Given the description of an element on the screen output the (x, y) to click on. 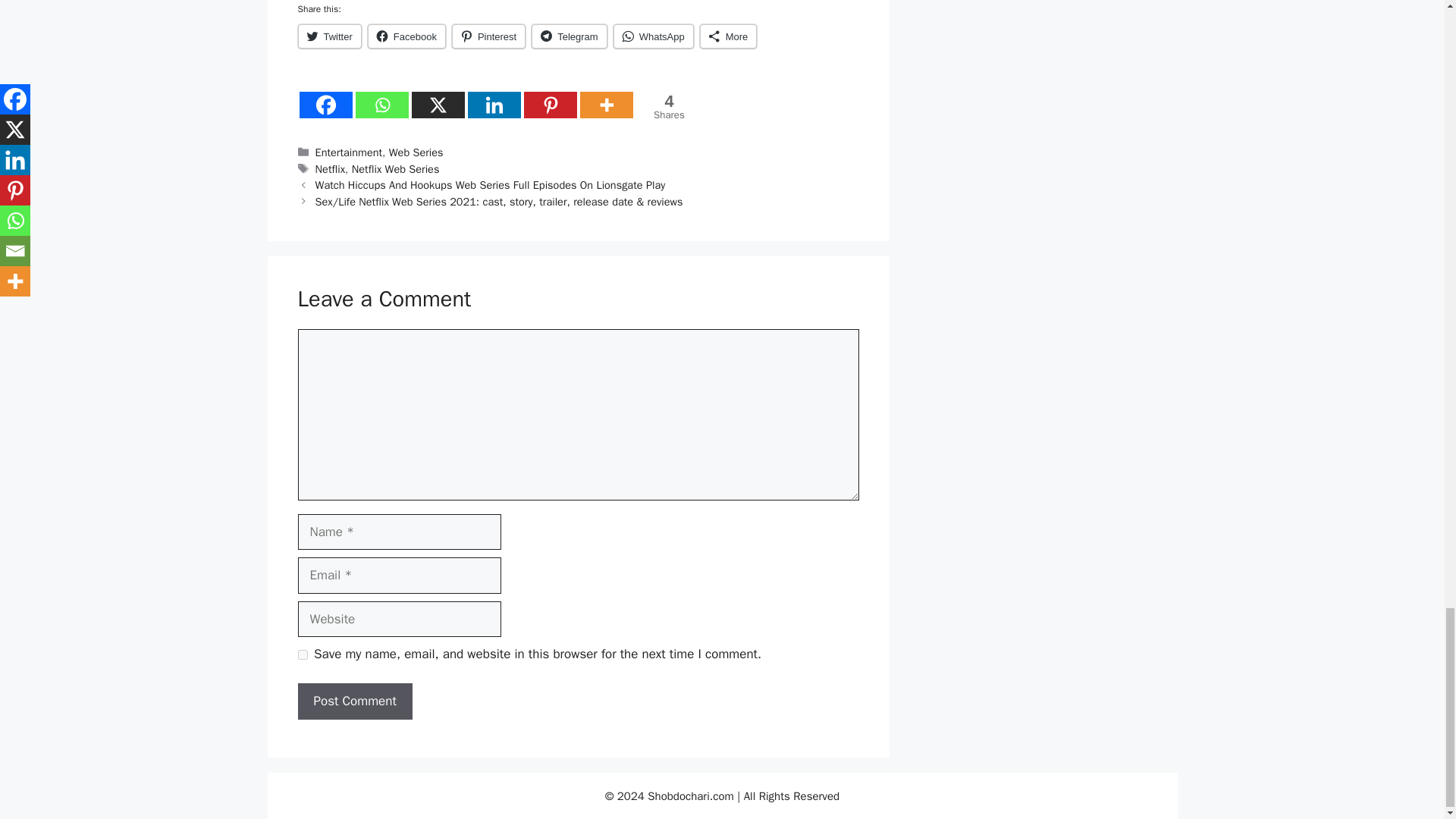
Pinterest (488, 36)
Twitter (329, 36)
yes (302, 655)
Facebook (406, 36)
Click to share on Twitter (665, 106)
Post Comment (329, 36)
More (354, 701)
WhatsApp (728, 36)
Telegram (653, 36)
